Given the description of an element on the screen output the (x, y) to click on. 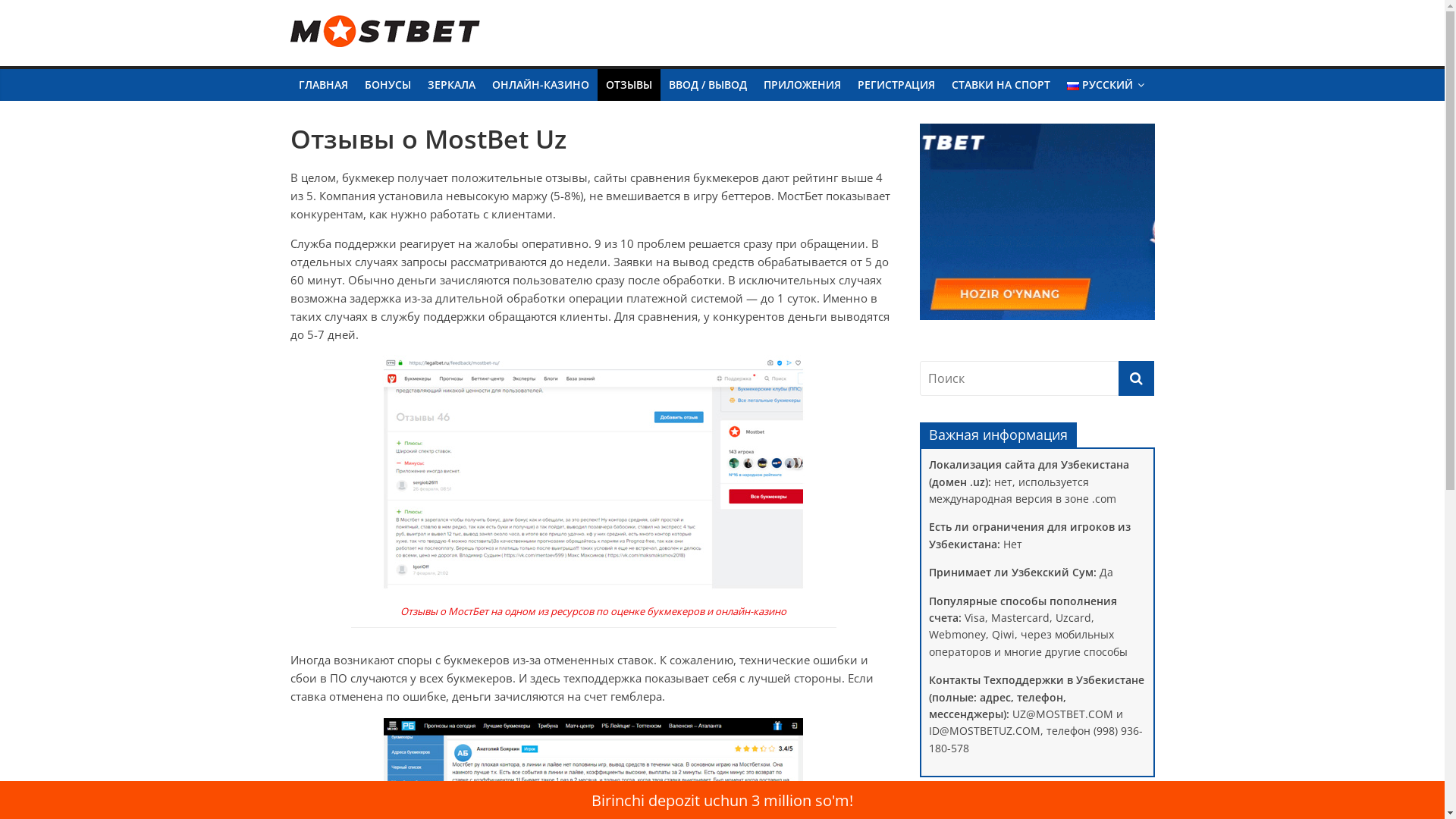
MostbetUZ Element type: text (379, 34)
Birinchi depozit uchun 3 million so'm! Element type: text (722, 800)
